Given the description of an element on the screen output the (x, y) to click on. 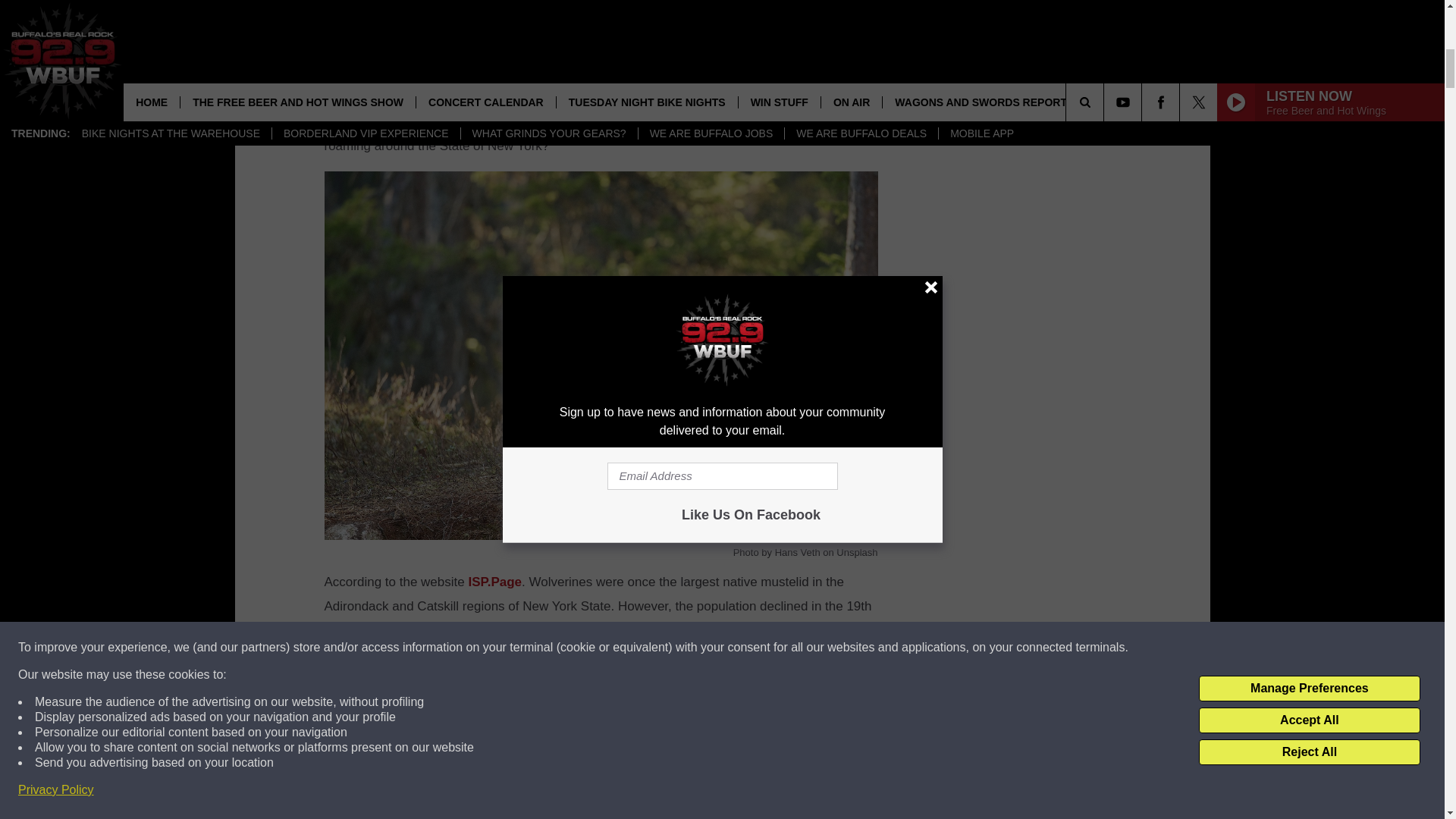
Email Address (600, 13)
